Given the description of an element on the screen output the (x, y) to click on. 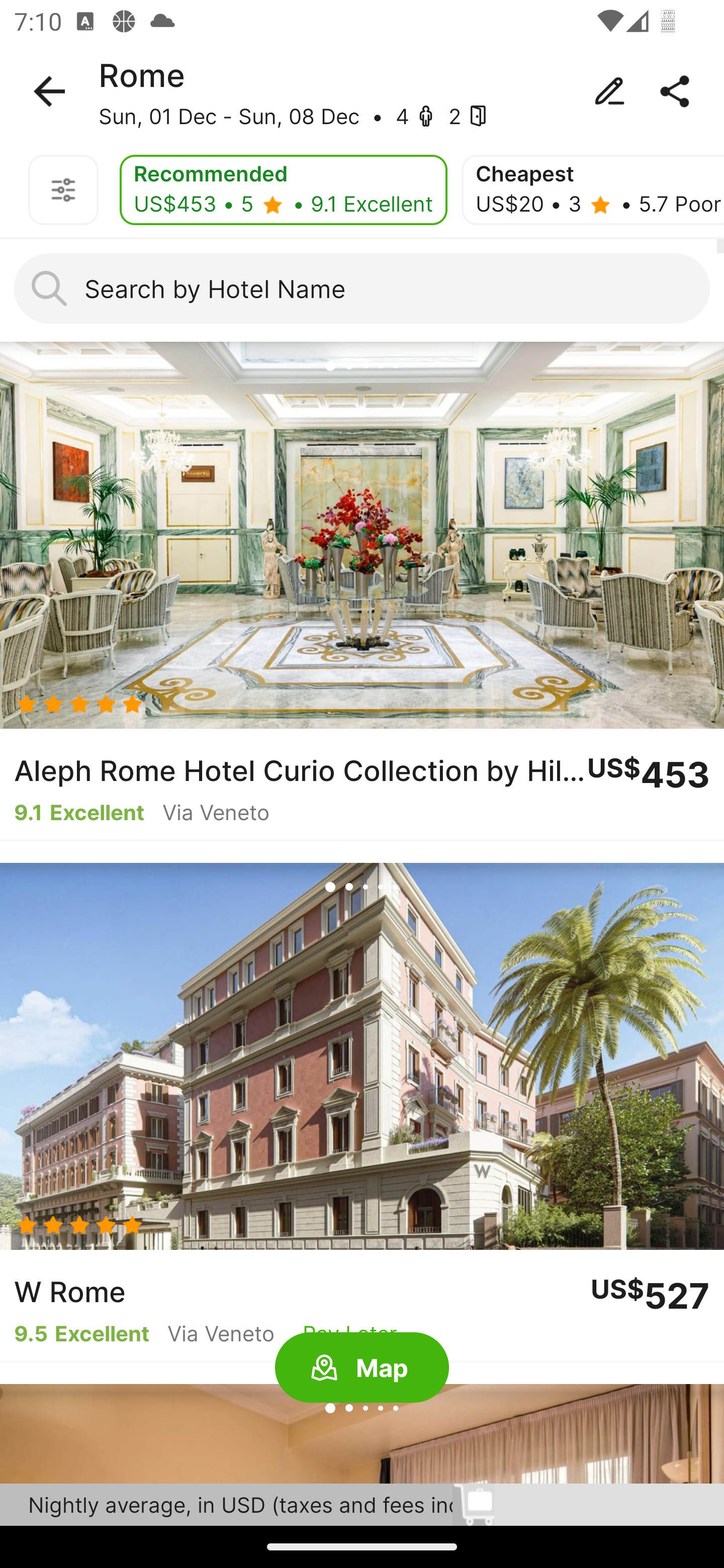
Rome Sun, 01 Dec - Sun, 08 Dec  •  4 -  2 - (361, 91)
Recommended  US$453  • 5 - • 9.1 Excellent (283, 190)
Cheapest US$20  • 3 - • 5.7 Poor (592, 190)
Search by Hotel Name  (361, 288)
10.0 W Rome 9.5 Excellent Via Veneto Pay Later (362, 1112)
Map  (361, 1367)
